Given the description of an element on the screen output the (x, y) to click on. 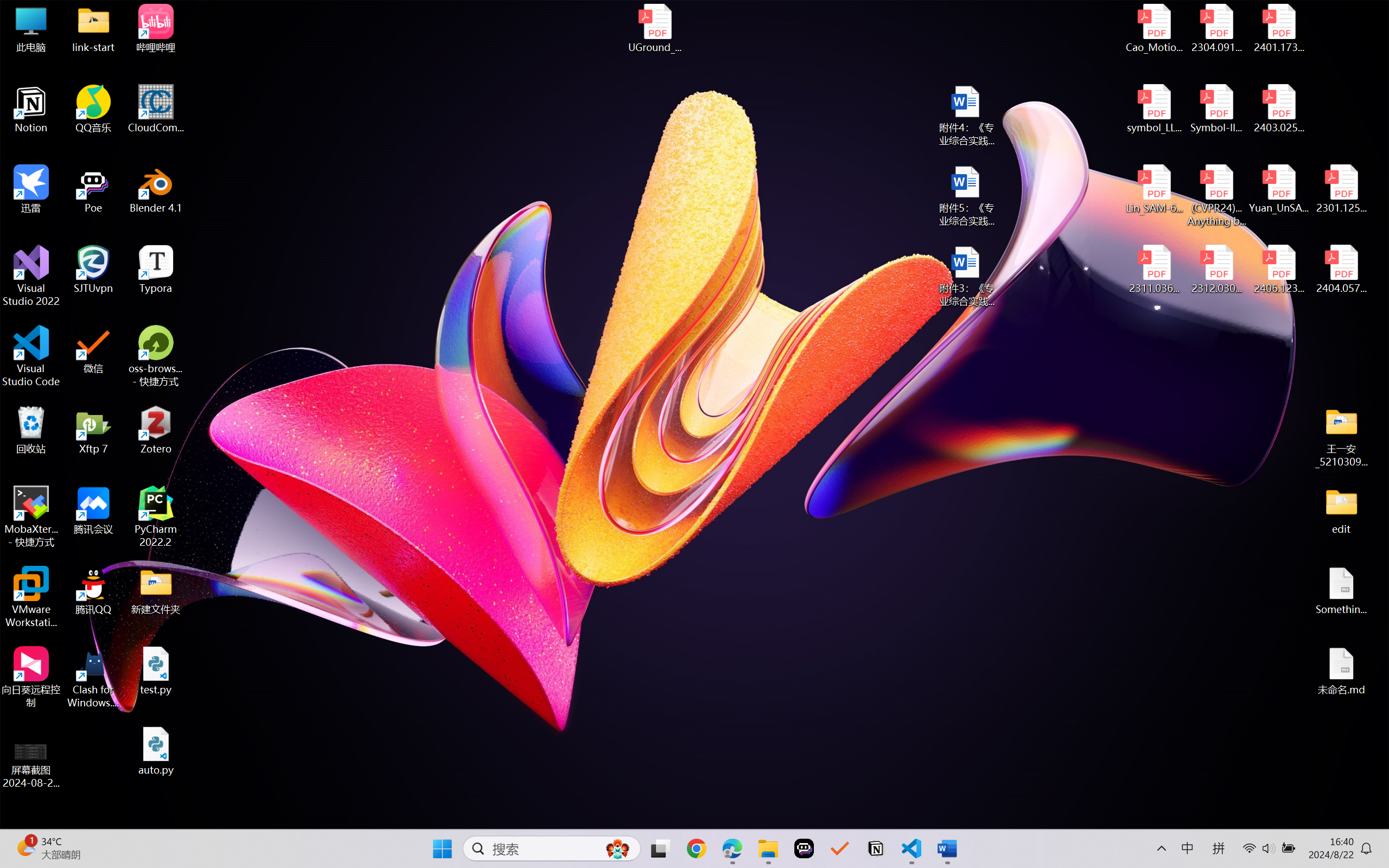
Typora (156, 269)
Blender 4.1 (156, 189)
CloudCompare (156, 109)
